Given the description of an element on the screen output the (x, y) to click on. 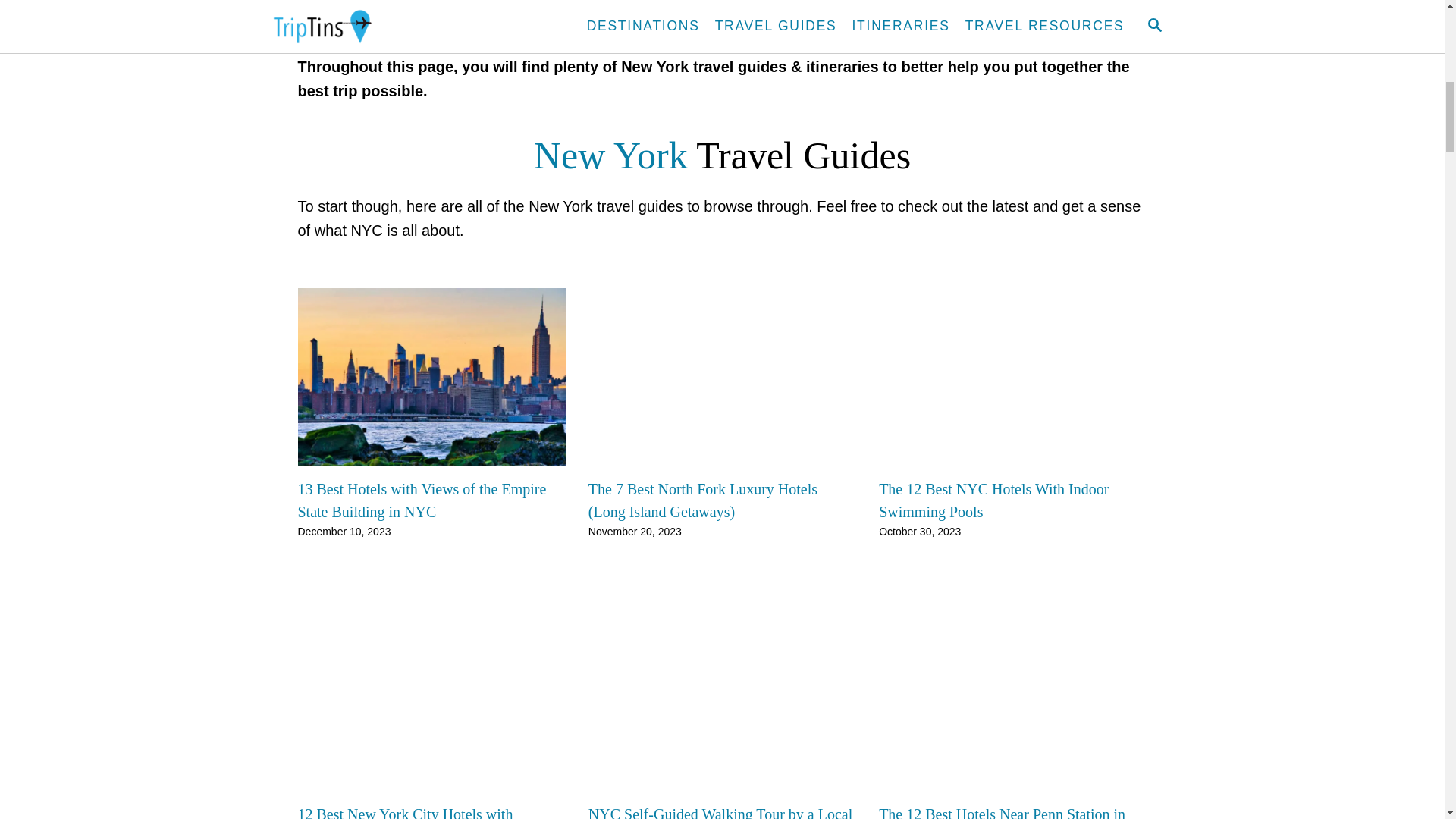
The 12 Best Hotels Near Penn Station in New York City (1013, 811)
The 12 Best NYC Hotels With Indoor Swimming Pools (1013, 500)
Brooklyn Bridge (833, 2)
Central Park (575, 2)
